Given the description of an element on the screen output the (x, y) to click on. 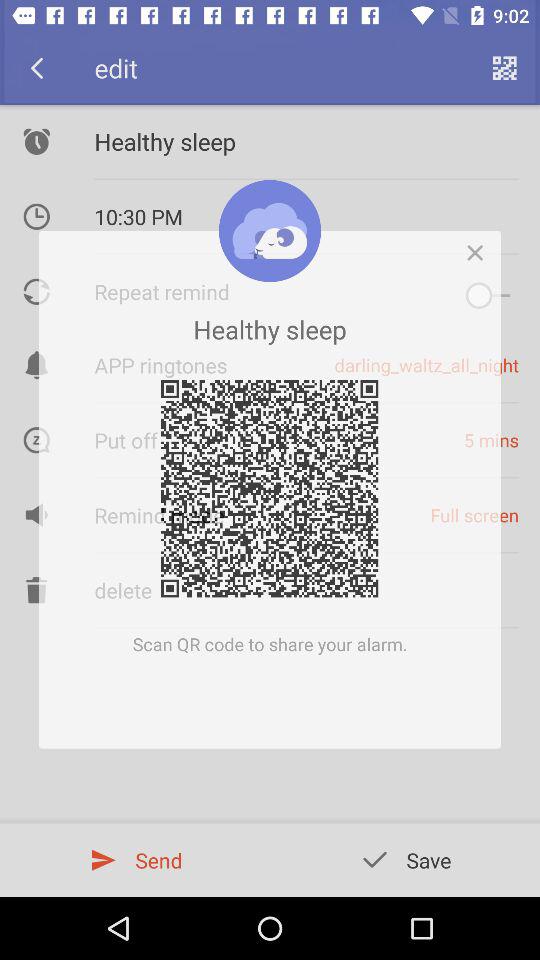
launch the item at the top right corner (480, 246)
